Given the description of an element on the screen output the (x, y) to click on. 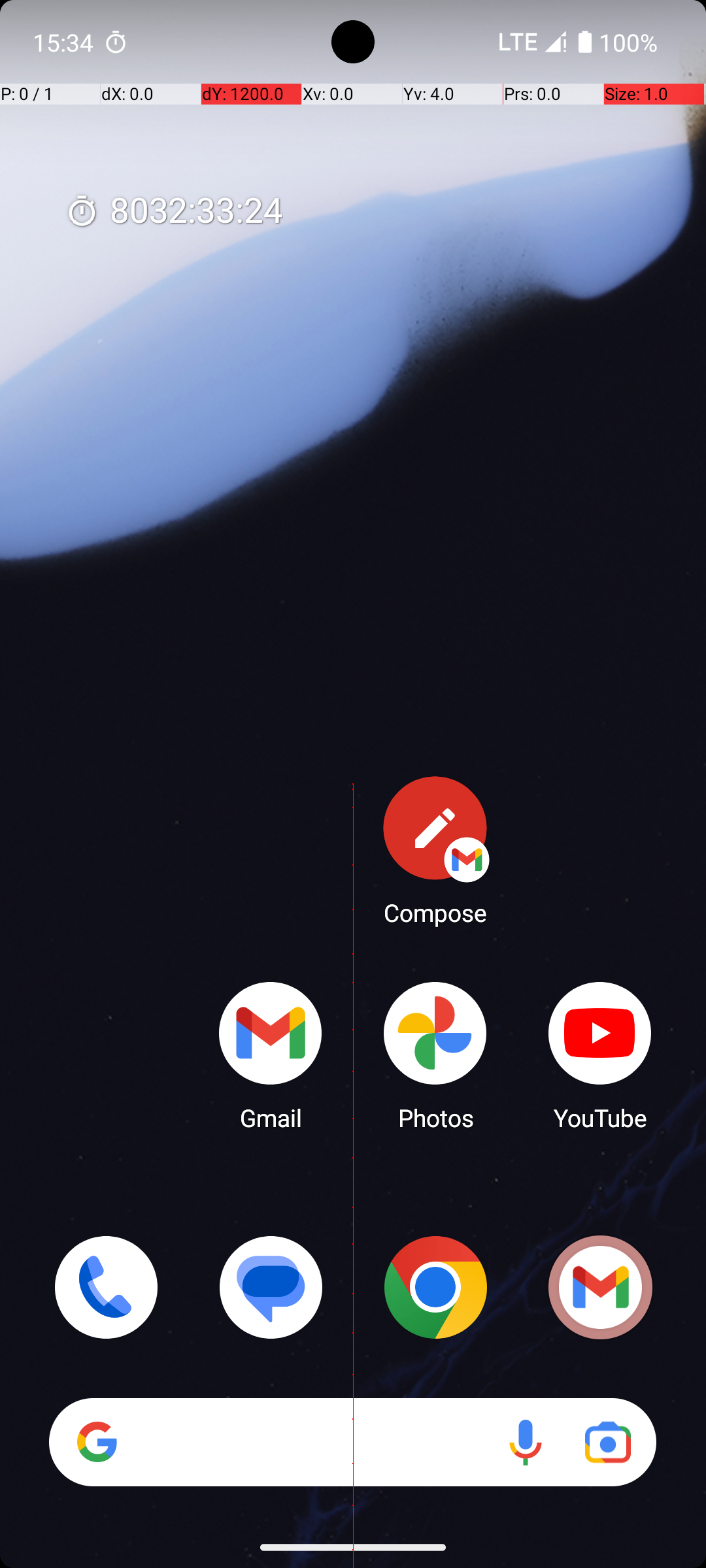
8032:33:24 Element type: android.widget.TextView (173, 210)
